Given the description of an element on the screen output the (x, y) to click on. 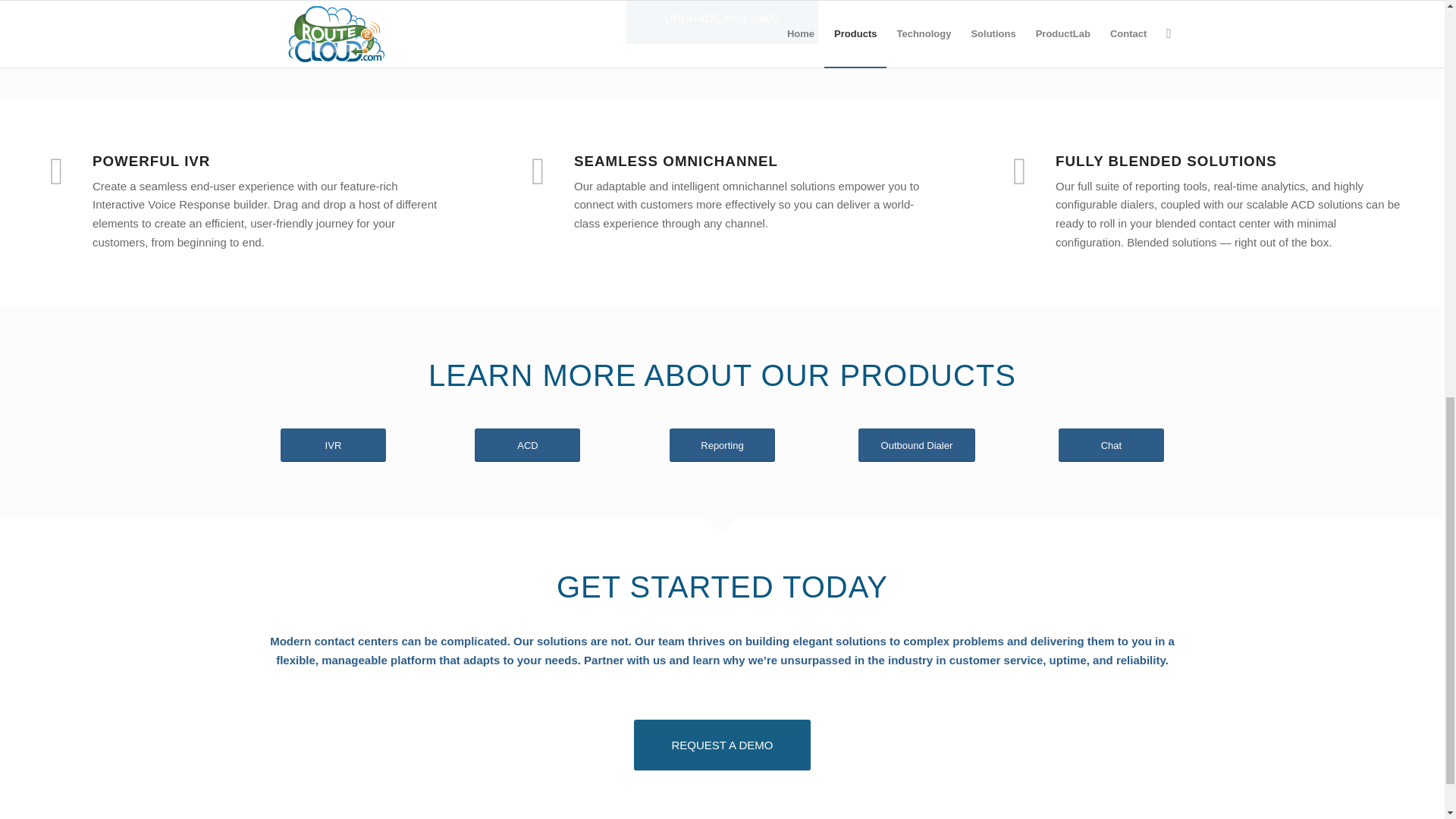
Outbound Dialer (917, 445)
REQUEST A DEMO (721, 744)
Reporting (721, 445)
IVR (333, 445)
ACD (526, 445)
Chat (1110, 445)
UPGRADE AND SAVE (721, 22)
